Given the description of an element on the screen output the (x, y) to click on. 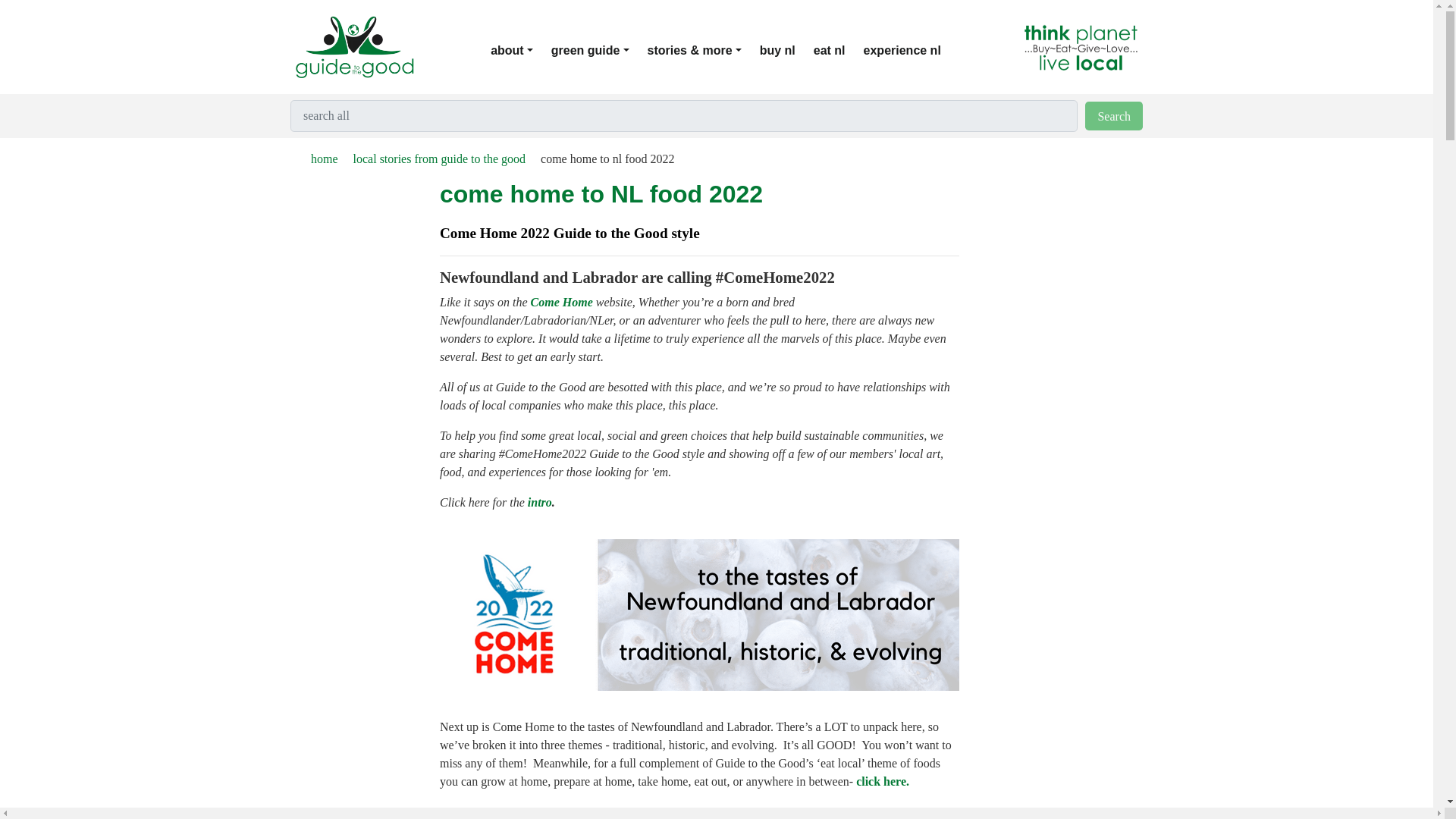
local stories from guide to the good (431, 158)
intro (539, 502)
home (316, 158)
click here. (882, 780)
eat nl (838, 51)
buy nl (786, 51)
about (520, 51)
experience nl (911, 51)
green guide (599, 51)
home (316, 158)
local stories from guide to the good (431, 158)
Come Home (561, 301)
Search (1113, 115)
